Given the description of an element on the screen output the (x, y) to click on. 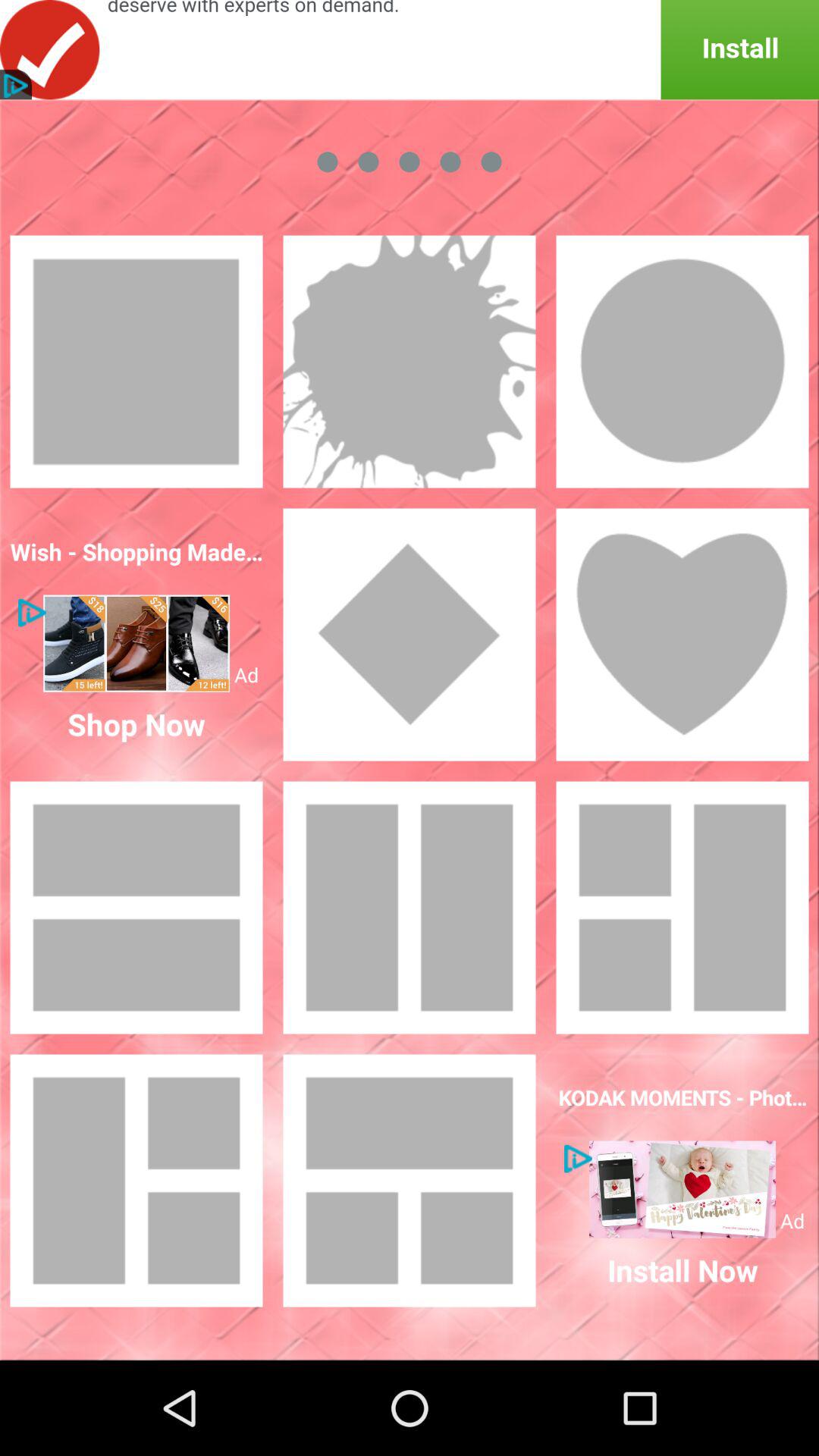
select the frame (136, 361)
